Given the description of an element on the screen output the (x, y) to click on. 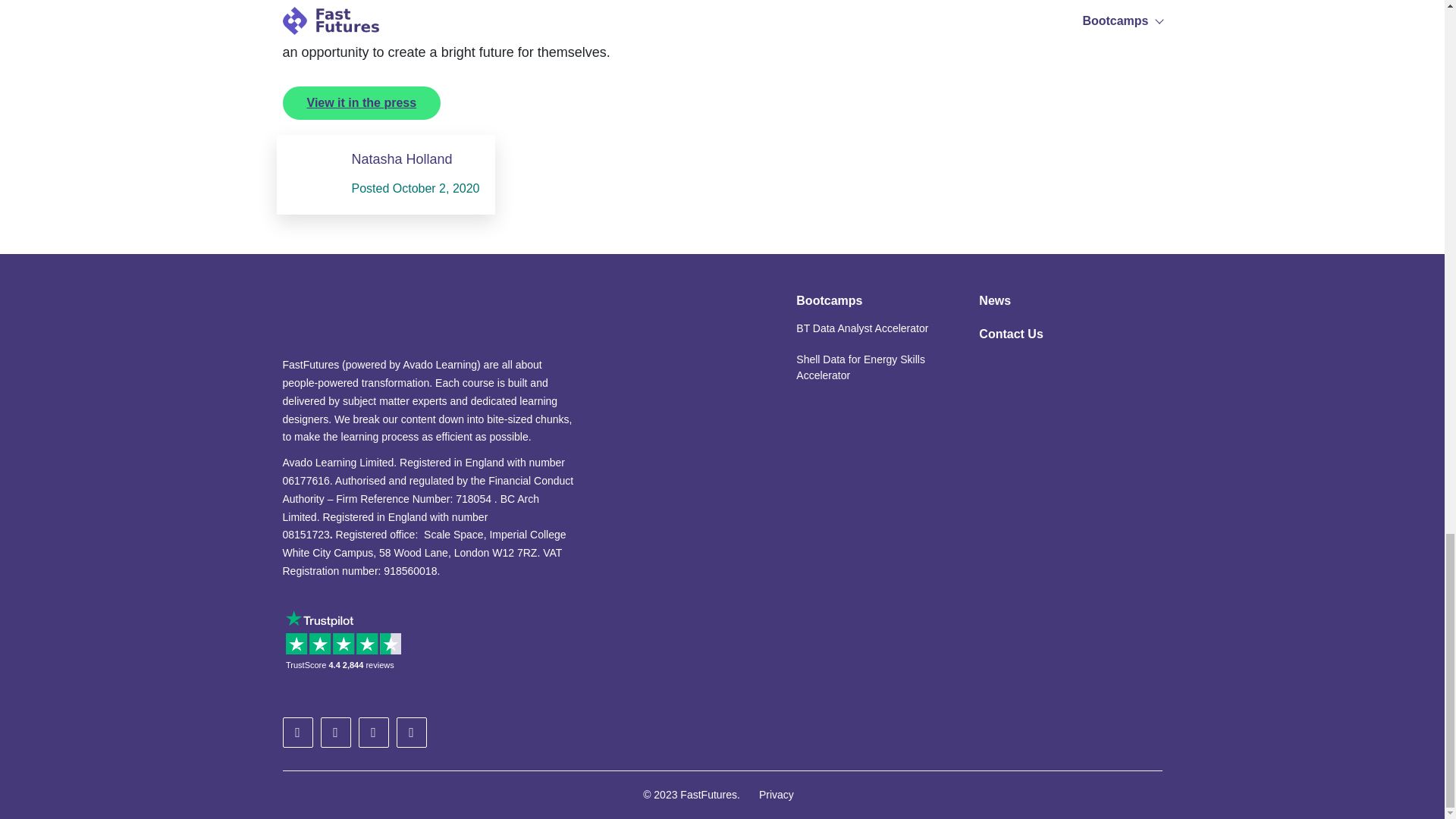
Contact Us (1010, 334)
Shell Data for Energy Skills Accelerator (868, 368)
Bootcamps (828, 300)
News (994, 300)
Instagram (411, 732)
Linkedin (335, 732)
Privacy (775, 794)
Facebook (373, 732)
View it in the press (361, 102)
BT Data Analyst Accelerator (862, 328)
